Given the description of an element on the screen output the (x, y) to click on. 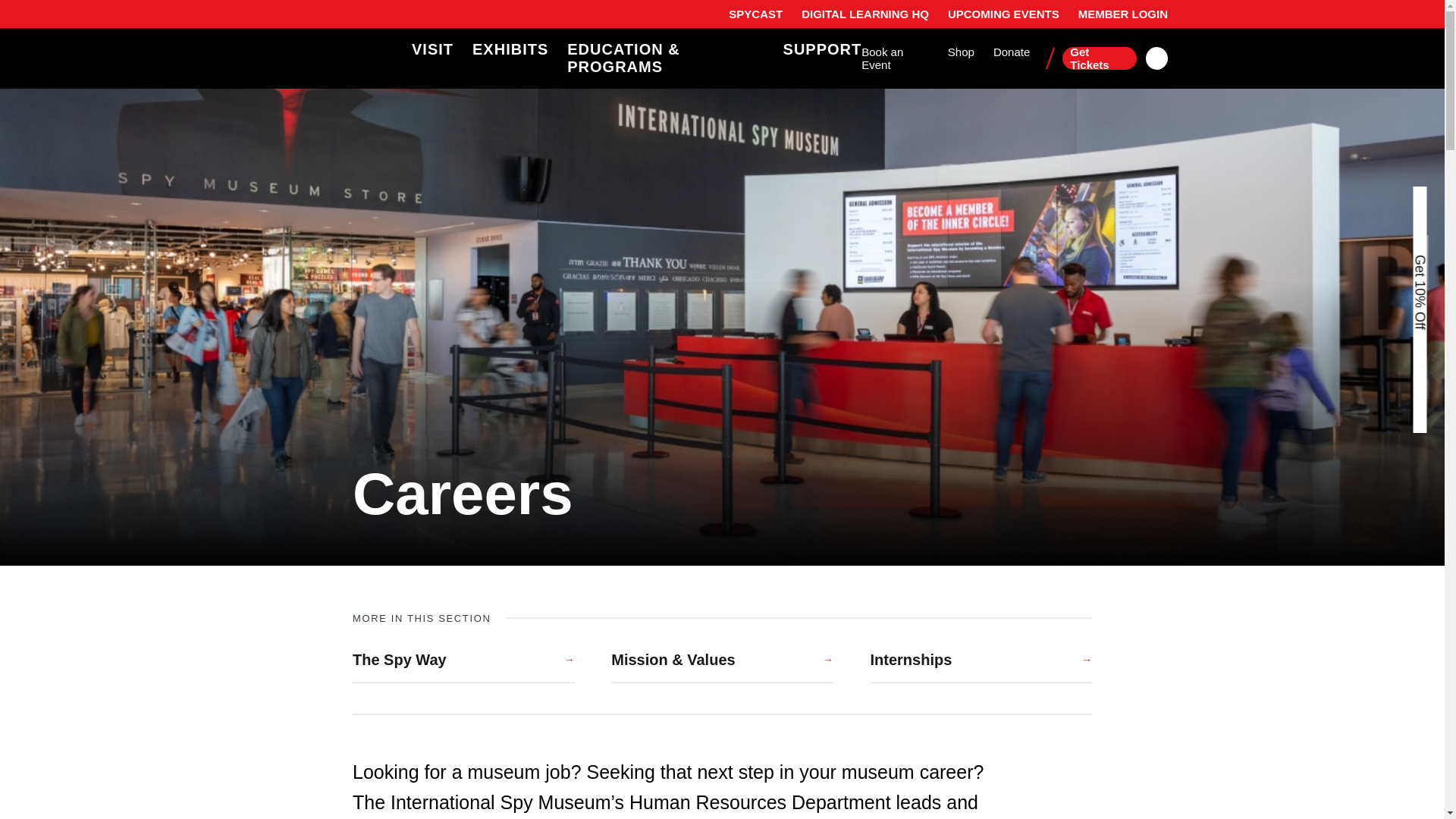
Book an Event (894, 58)
Shop (960, 51)
VISIT (432, 49)
MEMBER LOGIN (1122, 13)
SPYCAST (756, 13)
International Spy Museum (371, 57)
SUPPORT (822, 49)
EXHIBITS (509, 49)
DIGITAL LEARNING HQ (865, 13)
UPCOMING EVENTS (1003, 13)
